Given the description of an element on the screen output the (x, y) to click on. 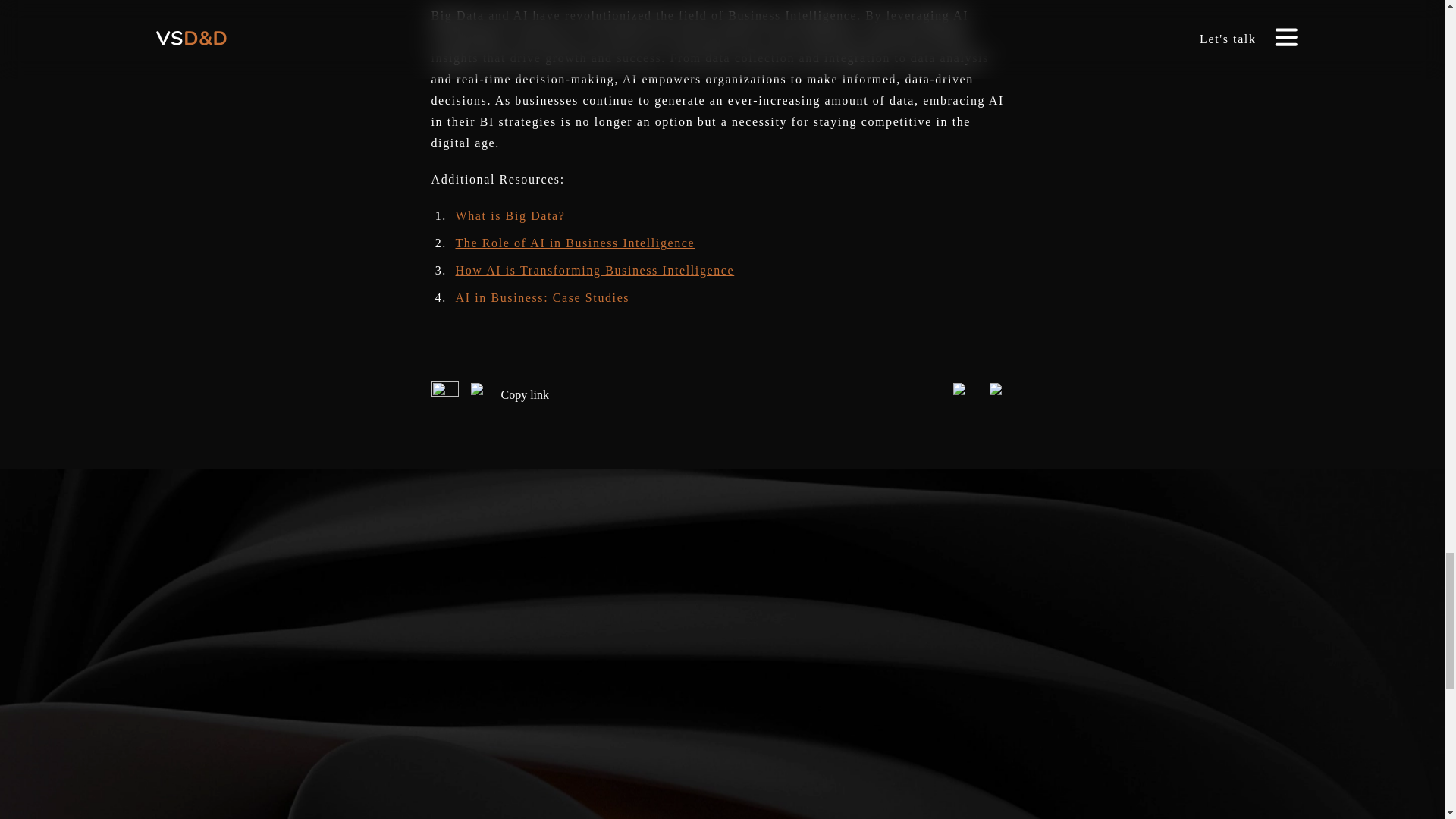
What is Big Data? (509, 215)
Copy link (509, 395)
The Role of AI in Business Intelligence (574, 242)
AI in Business: Case Studies (541, 297)
How AI is Transforming Business Intelligence (593, 269)
